Given the description of an element on the screen output the (x, y) to click on. 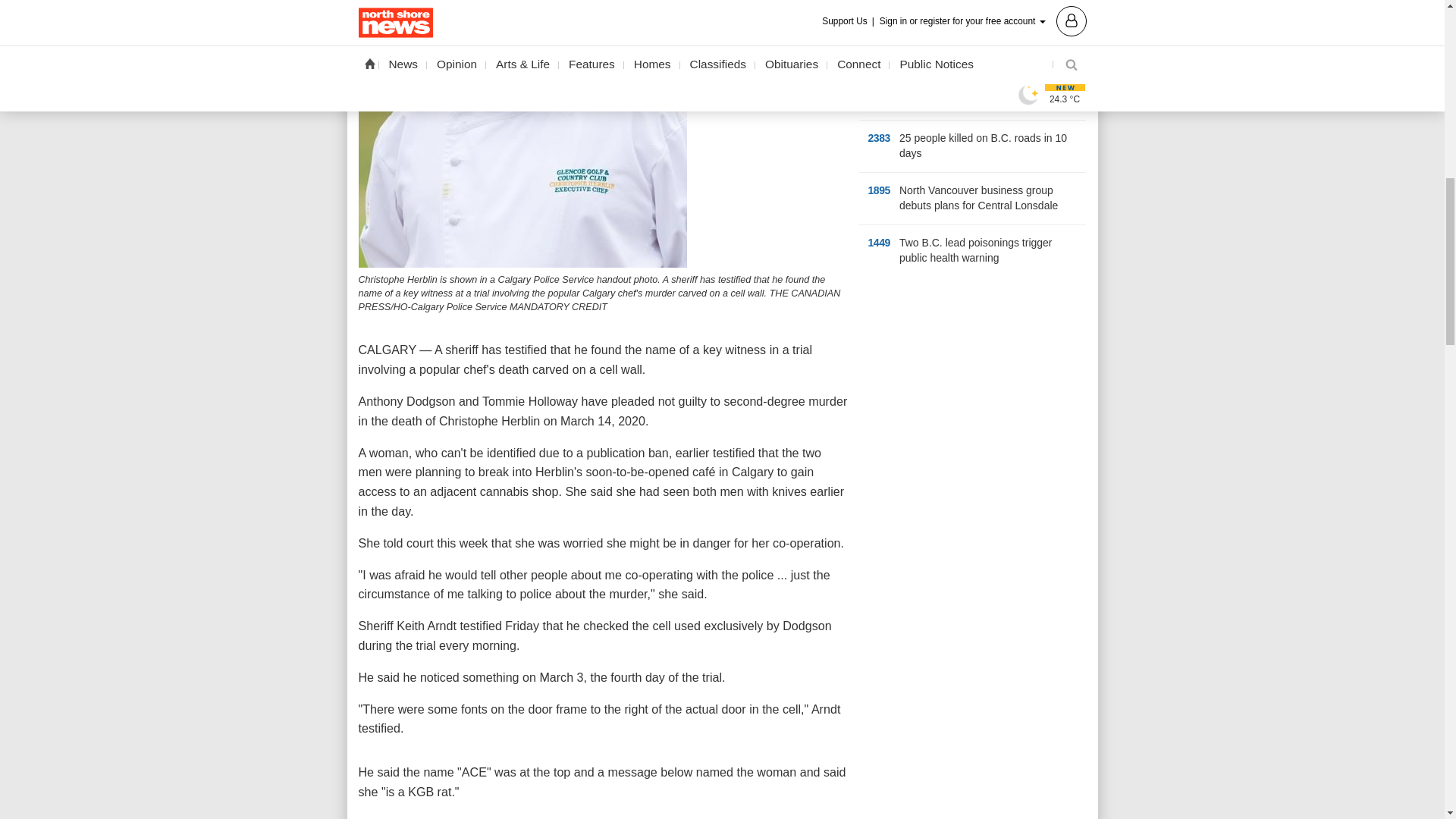
Has a gallery (1014, 102)
3rd party ad content (972, 386)
